Given the description of an element on the screen output the (x, y) to click on. 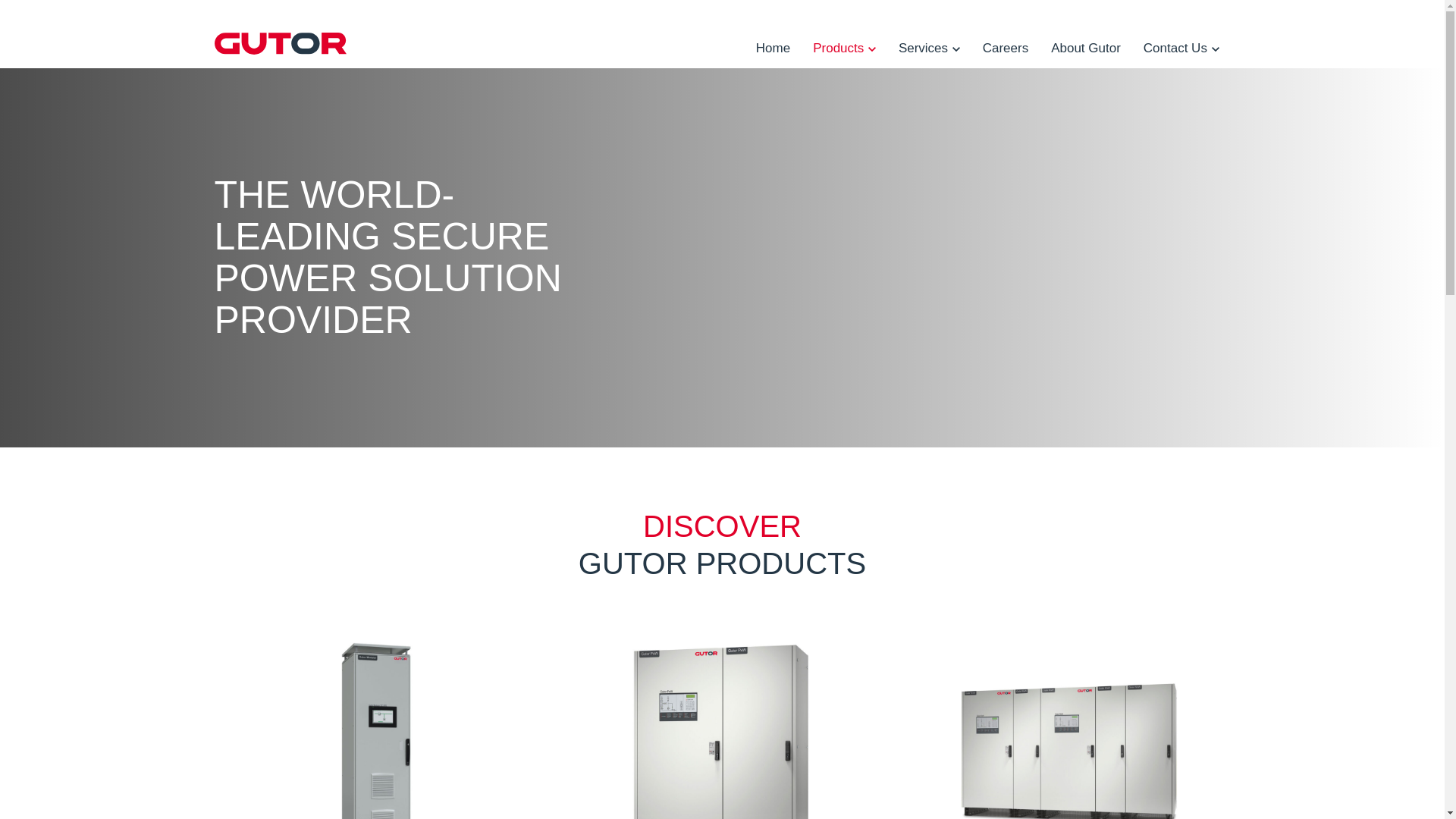
Home (773, 47)
About Gutor (1085, 47)
Careers (1005, 47)
